Given the description of an element on the screen output the (x, y) to click on. 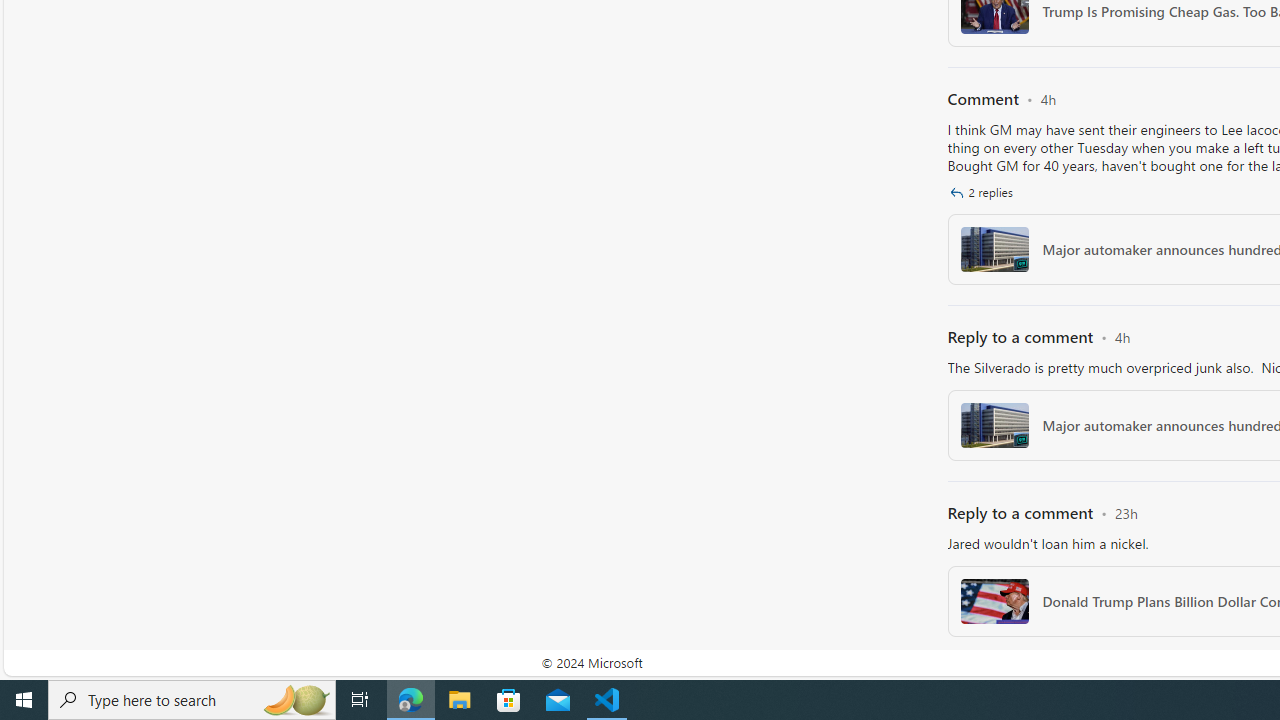
Class: cwt-icon-vector (955, 192)
2 replies (983, 192)
Content thumbnail (994, 601)
